Given the description of an element on the screen output the (x, y) to click on. 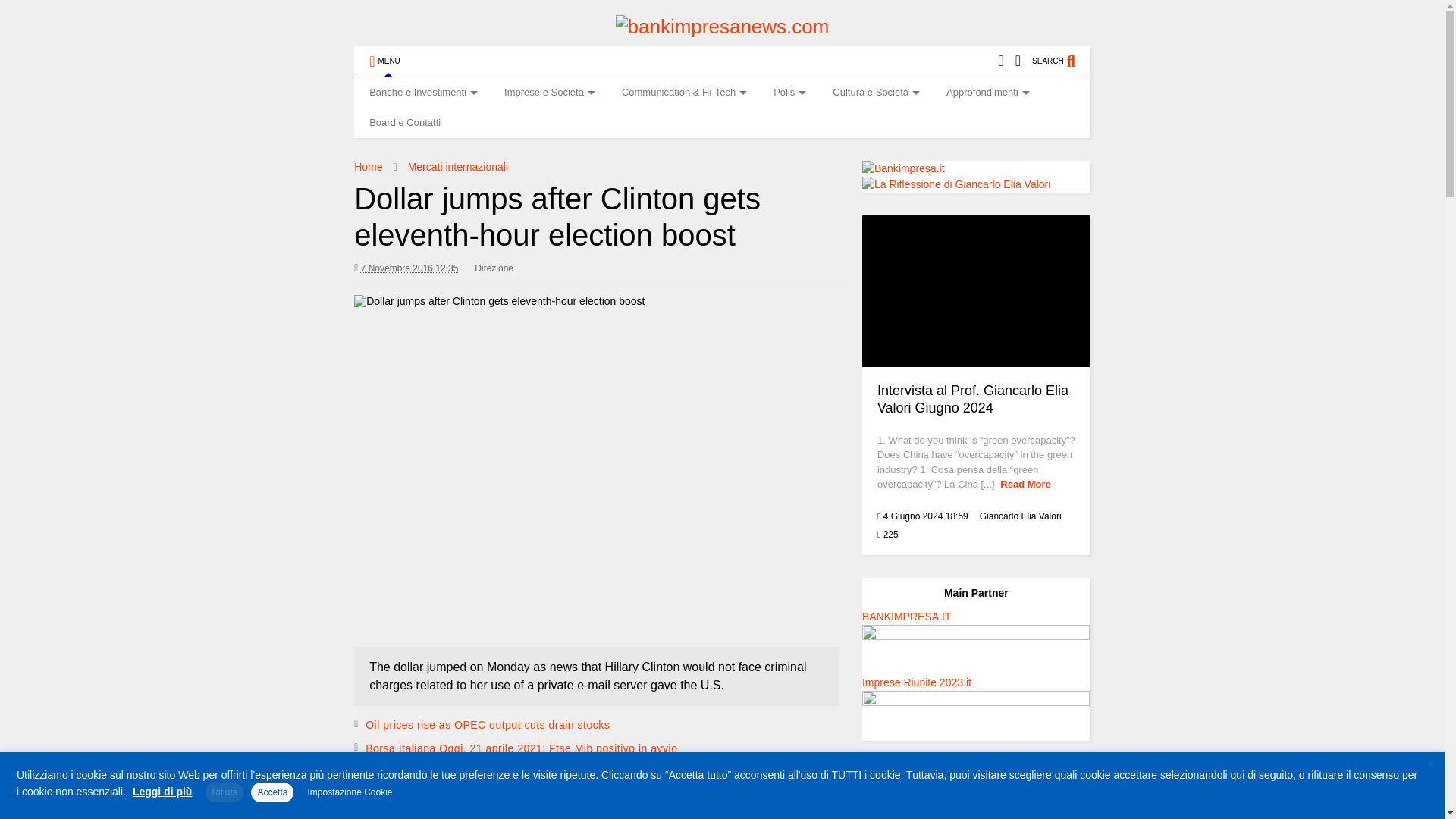
Approfondimenti (986, 91)
Oil prices rise as OPEC output cuts drain stocks (487, 725)
Polis (787, 91)
bankimpresanews.com (722, 26)
Banche e Investimenti (421, 91)
Direzione (493, 268)
SEARCH (1061, 60)
Board e Contatti (404, 122)
MENU (383, 60)
